Given the description of an element on the screen output the (x, y) to click on. 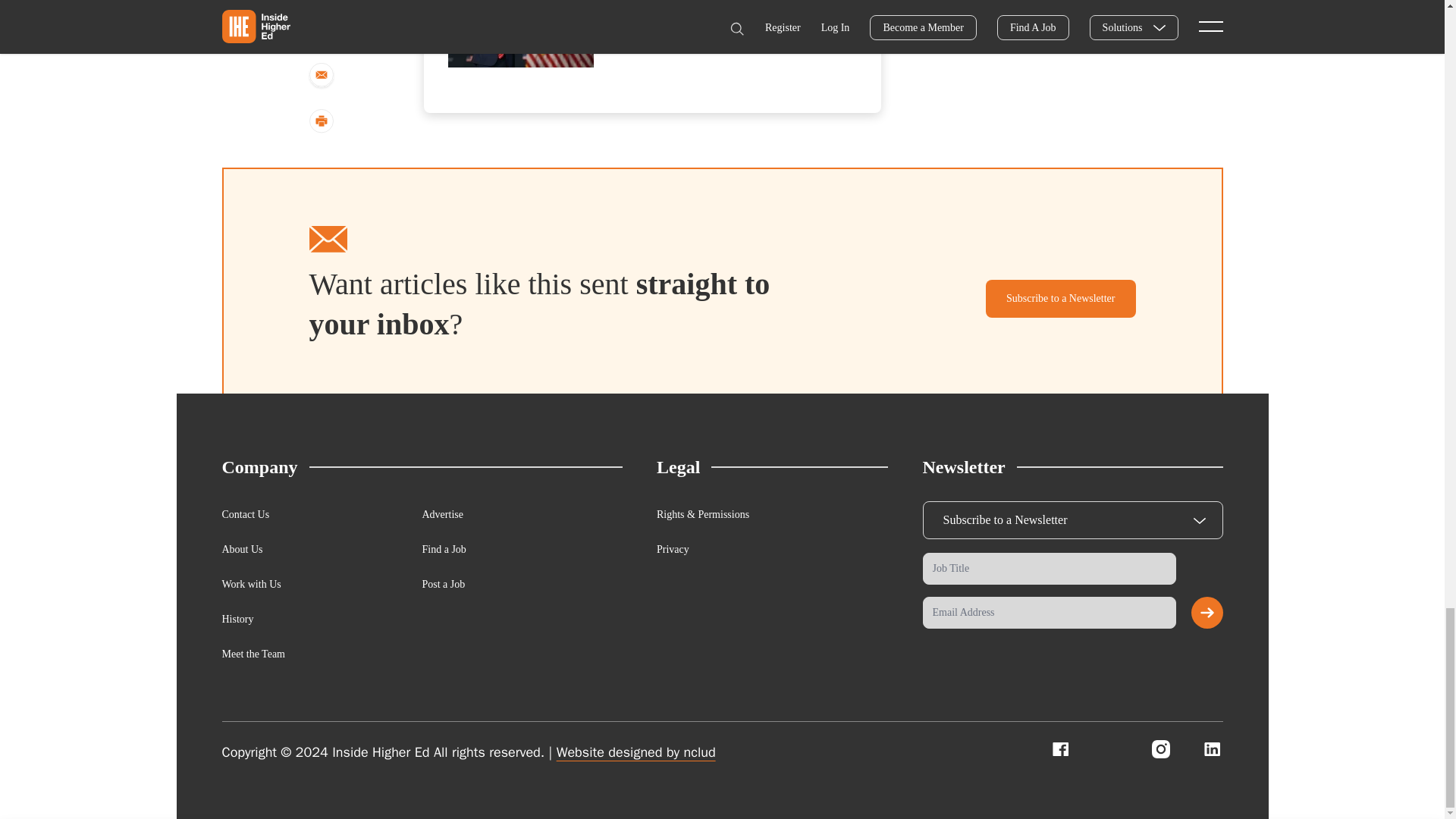
Submit (1207, 612)
